Given the description of an element on the screen output the (x, y) to click on. 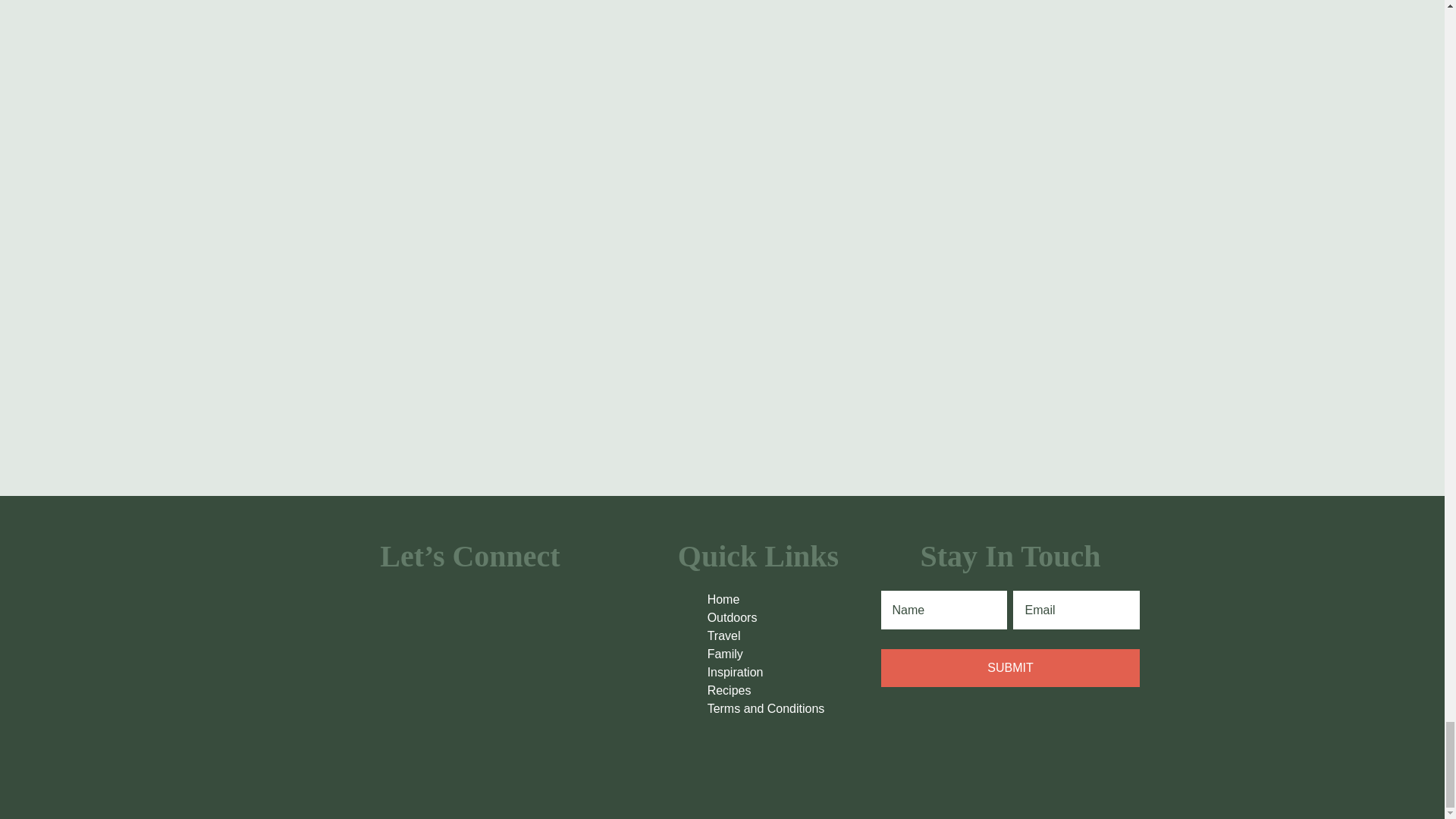
SUBMIT (1010, 668)
